Given the description of an element on the screen output the (x, y) to click on. 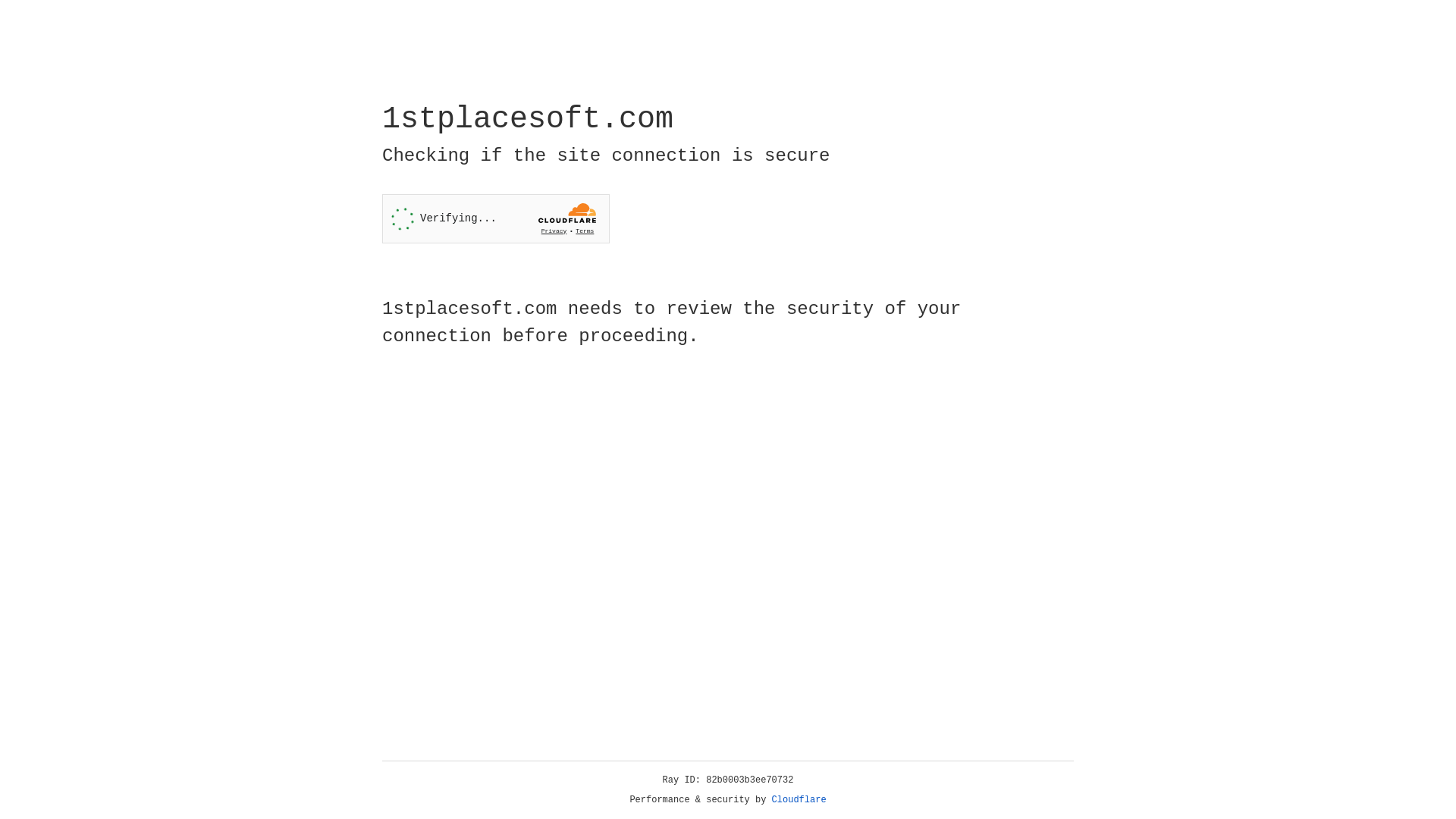
Cloudflare Element type: text (798, 799)
Widget containing a Cloudflare security challenge Element type: hover (495, 218)
